Given the description of an element on the screen output the (x, y) to click on. 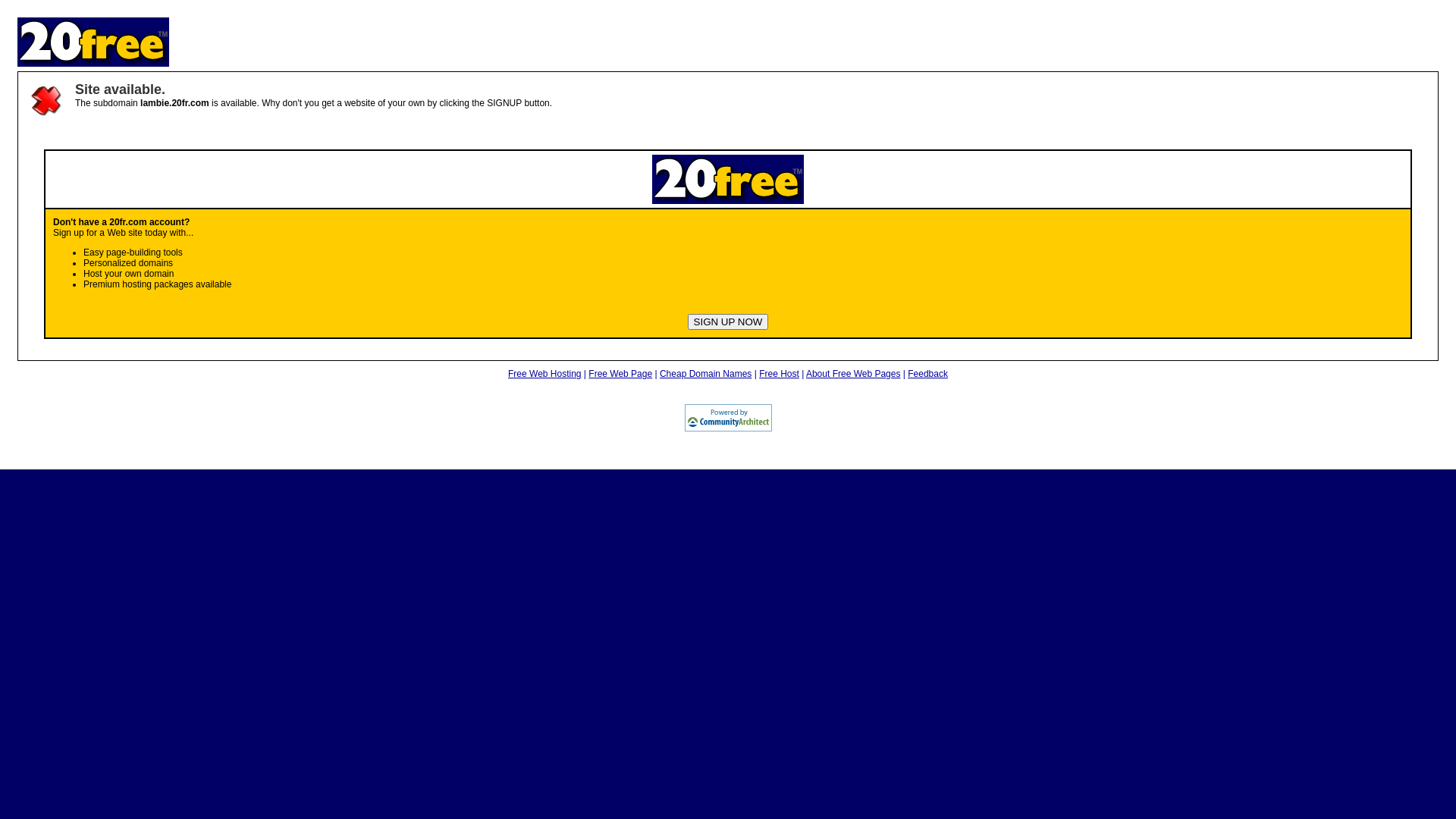
About Free Web Pages Element type: text (853, 373)
Cheap Domain Names Element type: text (705, 373)
Feedback Element type: text (927, 373)
Free Host Element type: text (779, 373)
Free Web Hosting Element type: text (544, 373)
SIGN UP NOW Element type: text (727, 321)
Free Web Page Element type: text (620, 373)
